Given the description of an element on the screen output the (x, y) to click on. 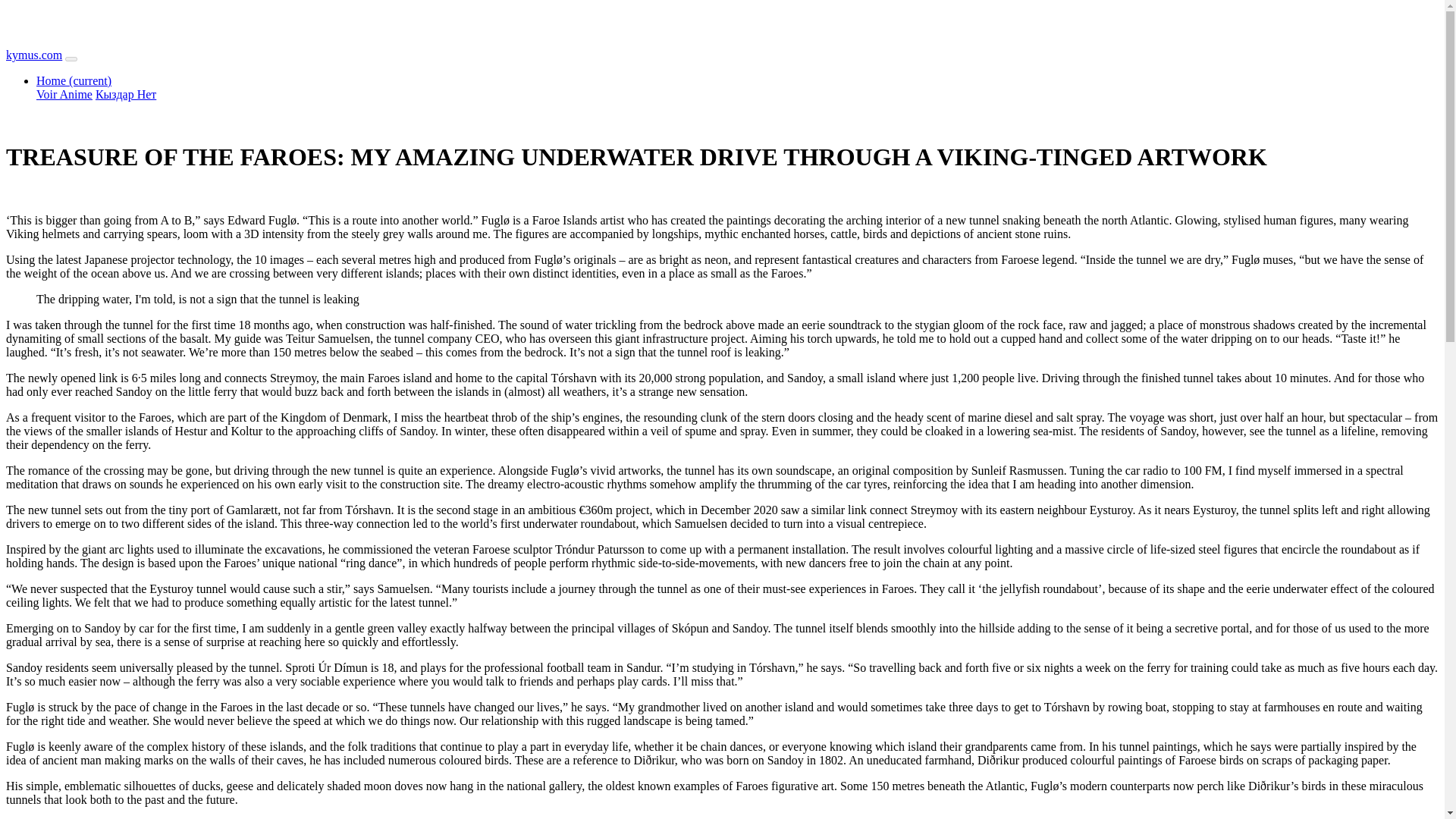
kymus.com (33, 54)
Voir Anime (64, 93)
